Given the description of an element on the screen output the (x, y) to click on. 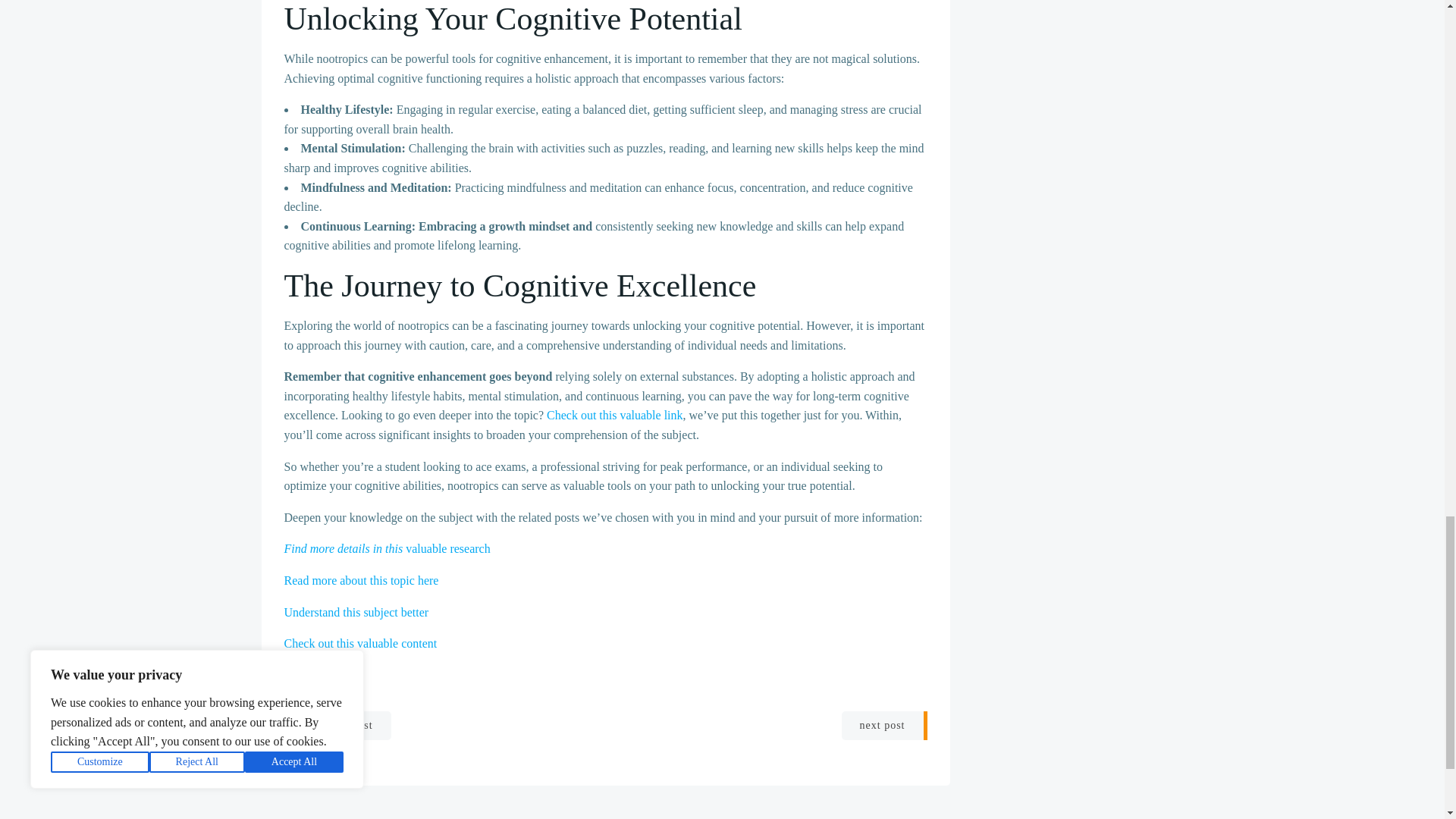
Check out this valuable link (614, 414)
Read more about this topic here (360, 580)
previous post (336, 725)
next post (884, 725)
Understand this subject better (355, 611)
Find more details in this valuable research (386, 548)
Check out this valuable content (359, 643)
